Given the description of an element on the screen output the (x, y) to click on. 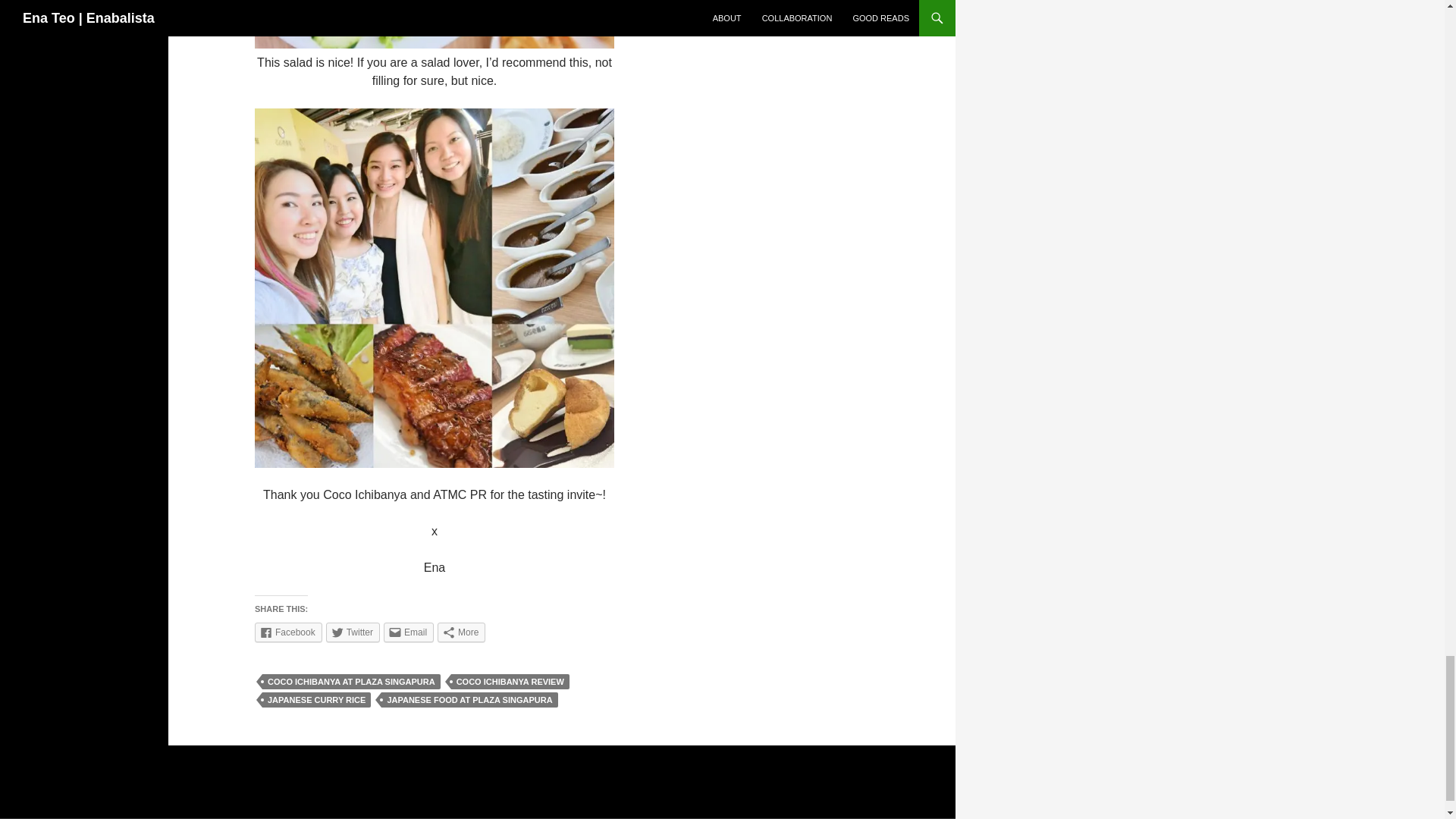
COCO ICHIBANYA REVIEW (510, 681)
JAPANESE CURRY RICE (316, 699)
Click to share on Facebook (287, 632)
JAPANESE FOOD AT PLAZA SINGAPURA (469, 699)
Email (408, 632)
More (461, 632)
Twitter (353, 632)
Click to email this to a friend (408, 632)
Facebook (287, 632)
COCO ICHIBANYA AT PLAZA SINGAPURA (351, 681)
Click to share on Twitter (353, 632)
